Given the description of an element on the screen output the (x, y) to click on. 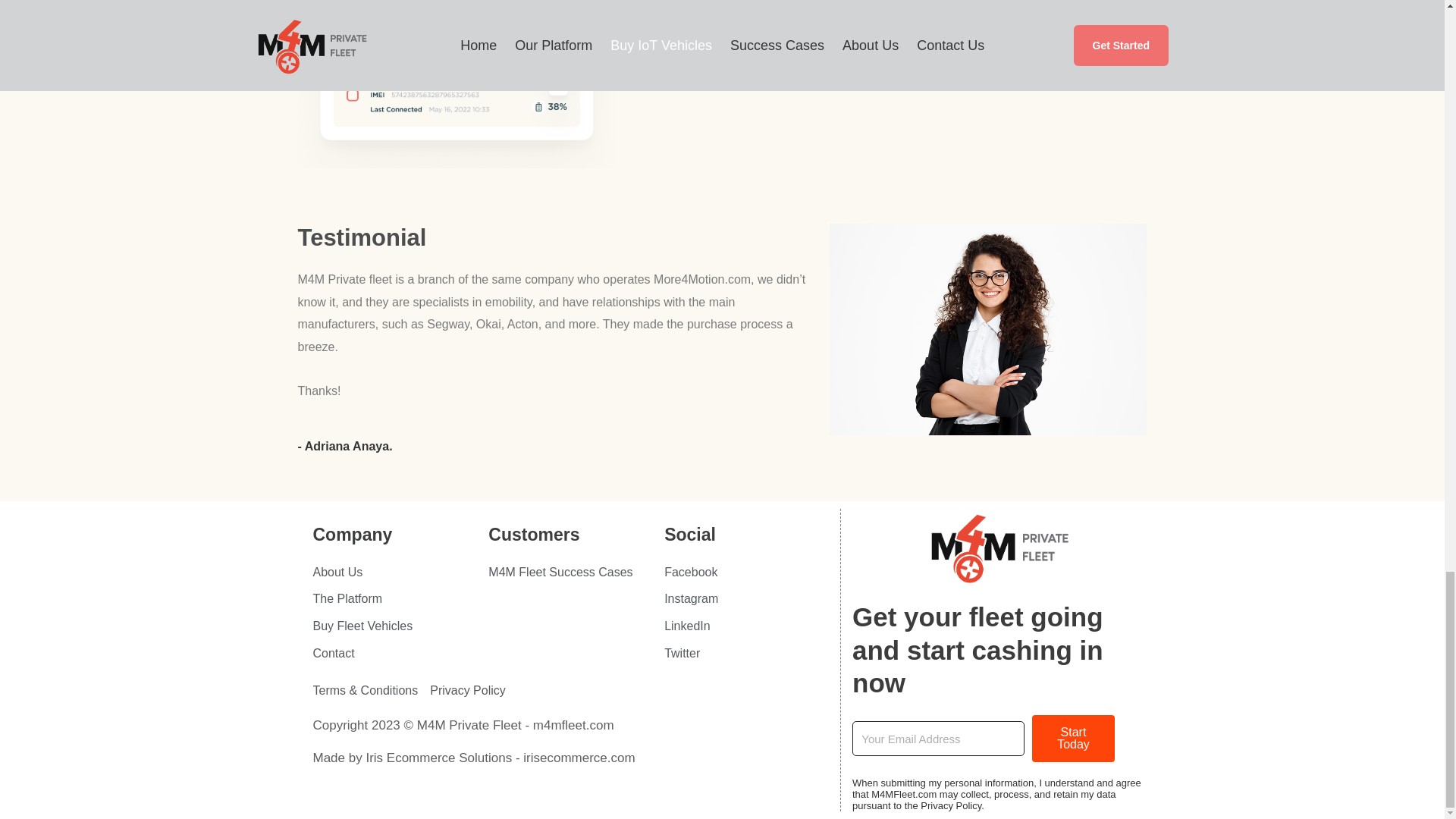
About Us (393, 572)
The Platform (393, 599)
Request shipping costs for your purchase. (775, 60)
